Given the description of an element on the screen output the (x, y) to click on. 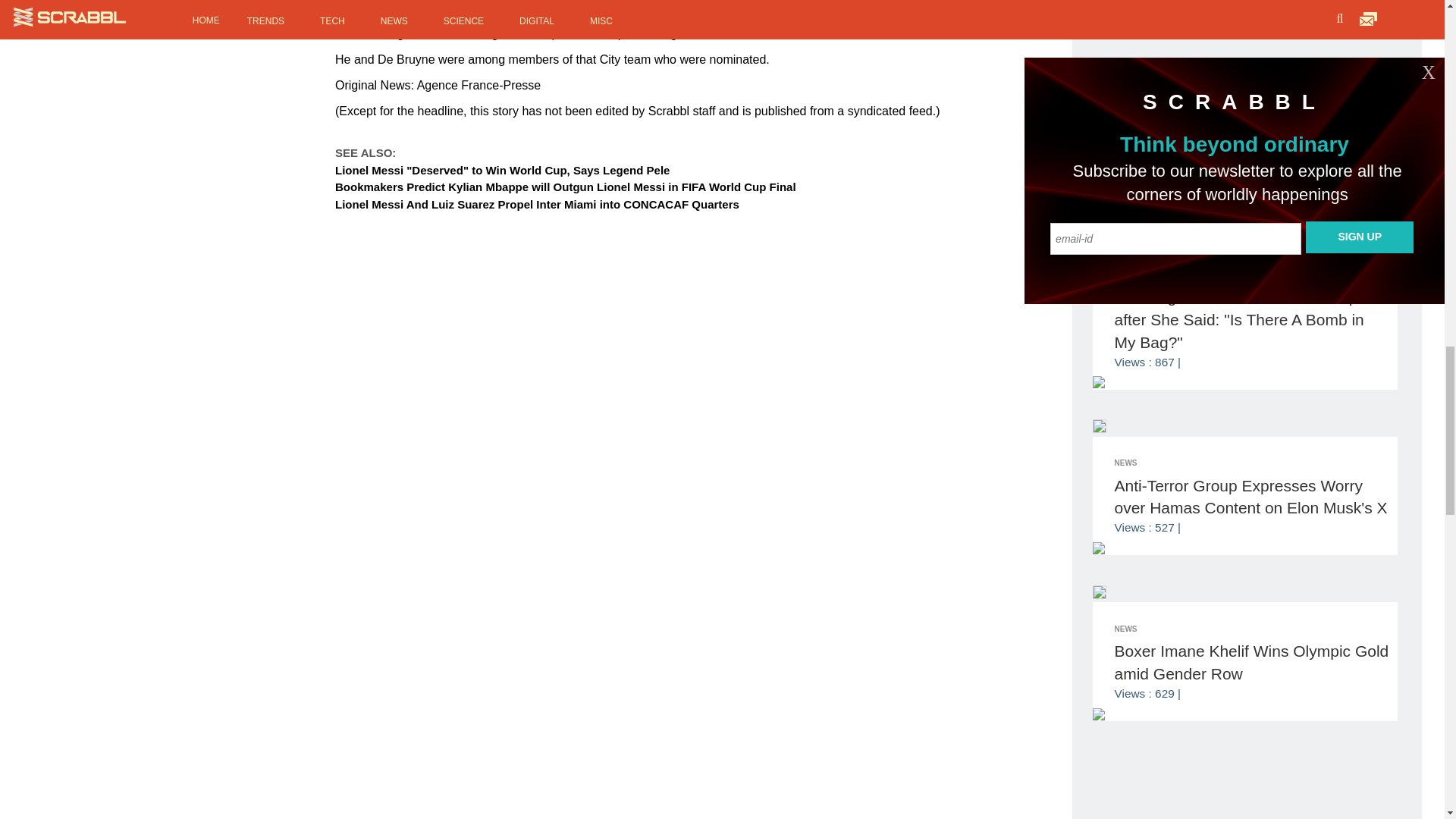
Lionel Messi "Deserved" to Win World Cup, Says Legend Pele (501, 169)
NEWS (1126, 274)
